Given the description of an element on the screen output the (x, y) to click on. 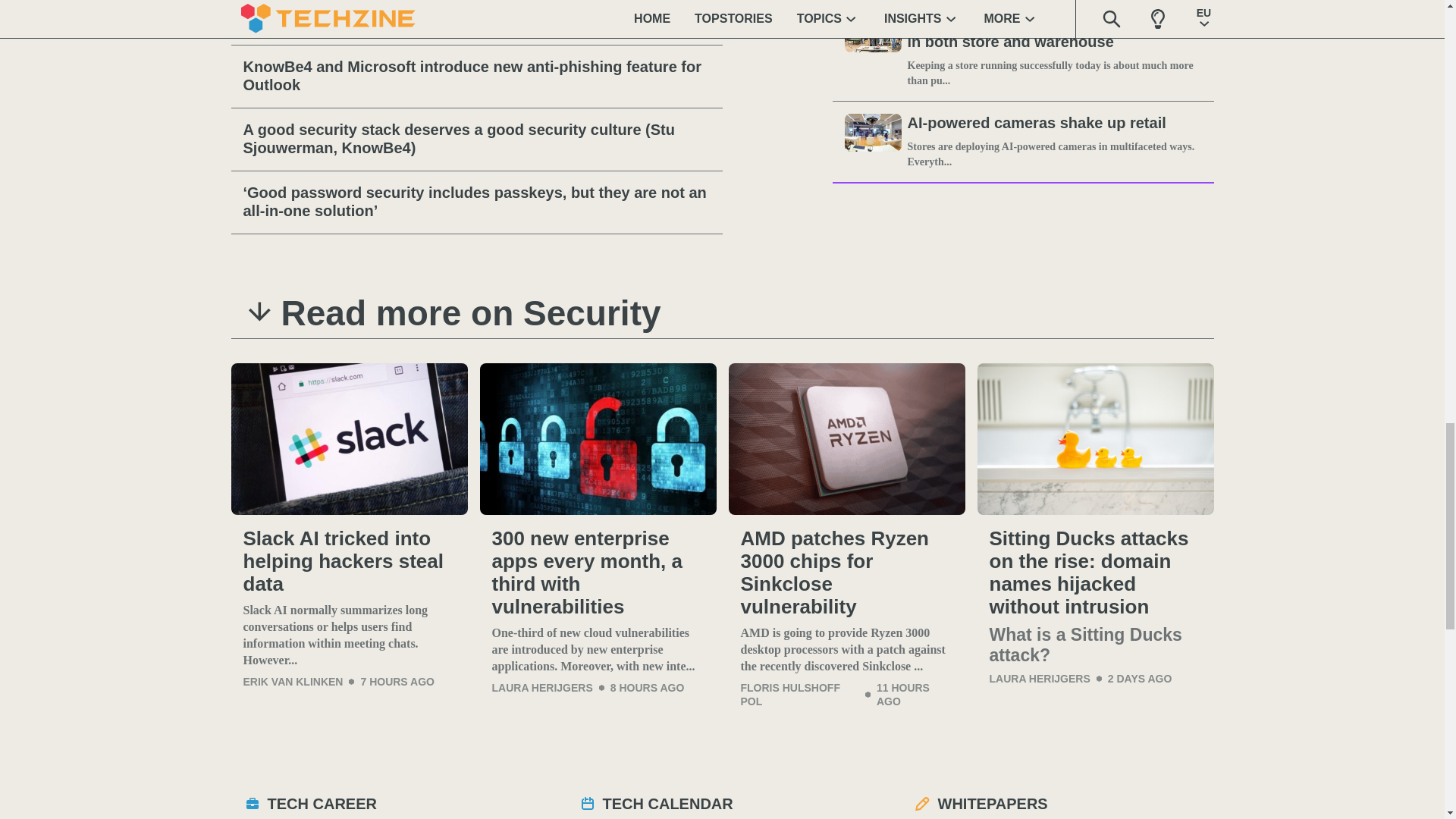
AI-powered cameras shake up retail (872, 141)
Slack AI tricked into helping hackers steal data (348, 561)
Slack AI tricked into helping hackers steal data (348, 439)
AI-powered cameras shake up retail (1054, 123)
